Given the description of an element on the screen output the (x, y) to click on. 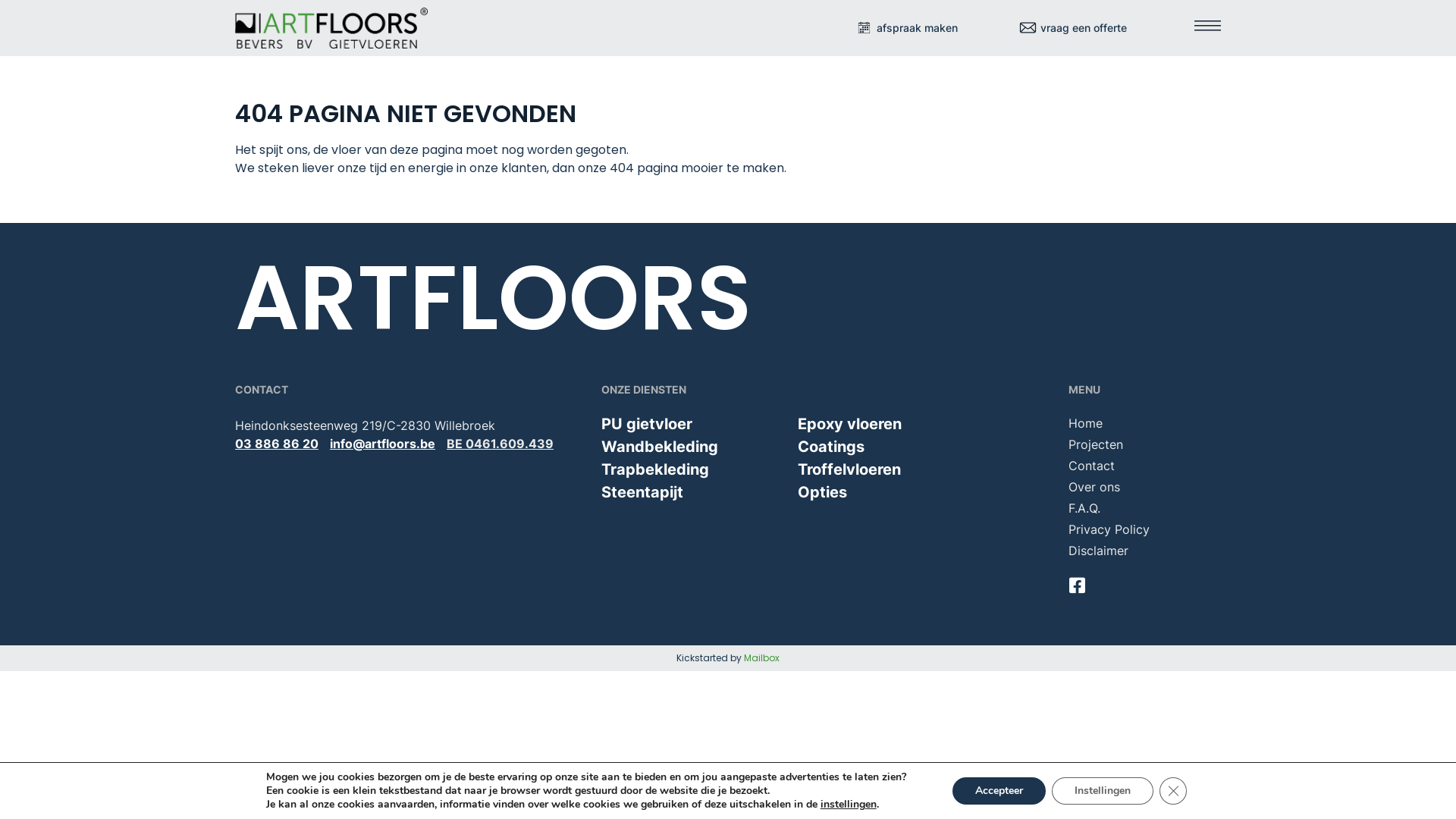
Coatings Element type: text (830, 446)
Wandbekleding Element type: text (659, 446)
Disclaimer Element type: text (1142, 550)
Over ons Element type: text (1142, 486)
Contact Element type: text (1142, 465)
vraag een offerte Element type: text (1071, 28)
afspraak maken Element type: text (905, 28)
Home Element type: text (1142, 422)
Steentapijt Element type: text (642, 491)
Troffelvloeren Element type: text (848, 469)
Accepteer Element type: text (998, 790)
info@artfloors.be Element type: text (382, 443)
Epoxy vloeren Element type: text (849, 423)
03 886 86 20 Element type: text (276, 443)
Instellingen Element type: text (1102, 790)
F.A.Q. Element type: text (1142, 507)
Projecten Element type: text (1142, 444)
Opties Element type: text (822, 491)
Trapbekleding Element type: text (655, 469)
Mailbox Element type: text (761, 657)
PU gietvloer Element type: text (646, 423)
Privacy Policy Element type: text (1142, 528)
Sluit GDPR (AVG) cookie banner Element type: text (1172, 790)
instellingen Element type: text (848, 804)
